Given the description of an element on the screen output the (x, y) to click on. 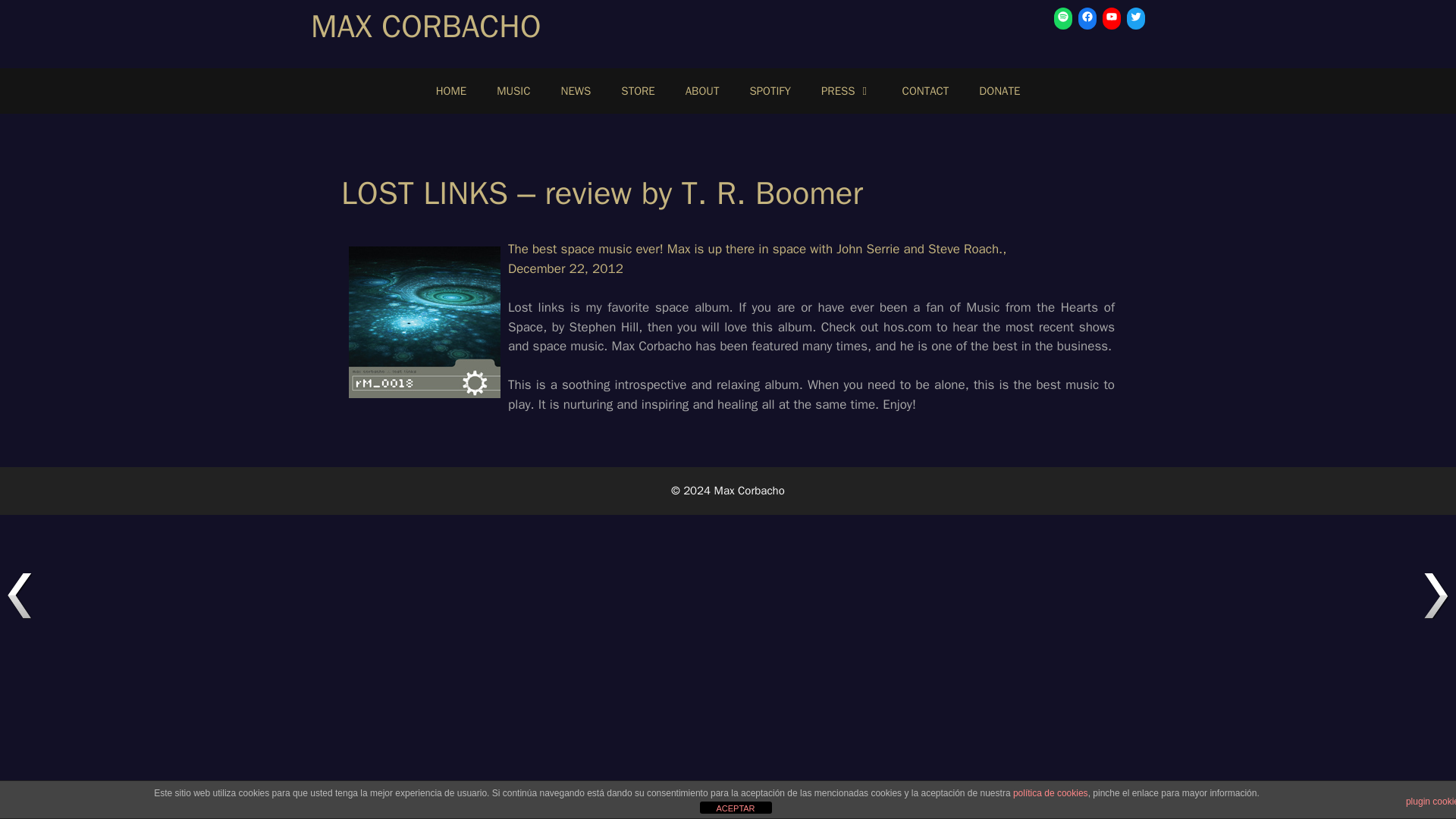
STORE (637, 90)
ABOUT (702, 90)
CONTACT (924, 90)
BUY ALBUM (424, 322)
SPOTIFY (769, 90)
MUSIC (512, 90)
Facebook (1087, 16)
PRESS (846, 90)
NEWS (576, 90)
